Given the description of an element on the screen output the (x, y) to click on. 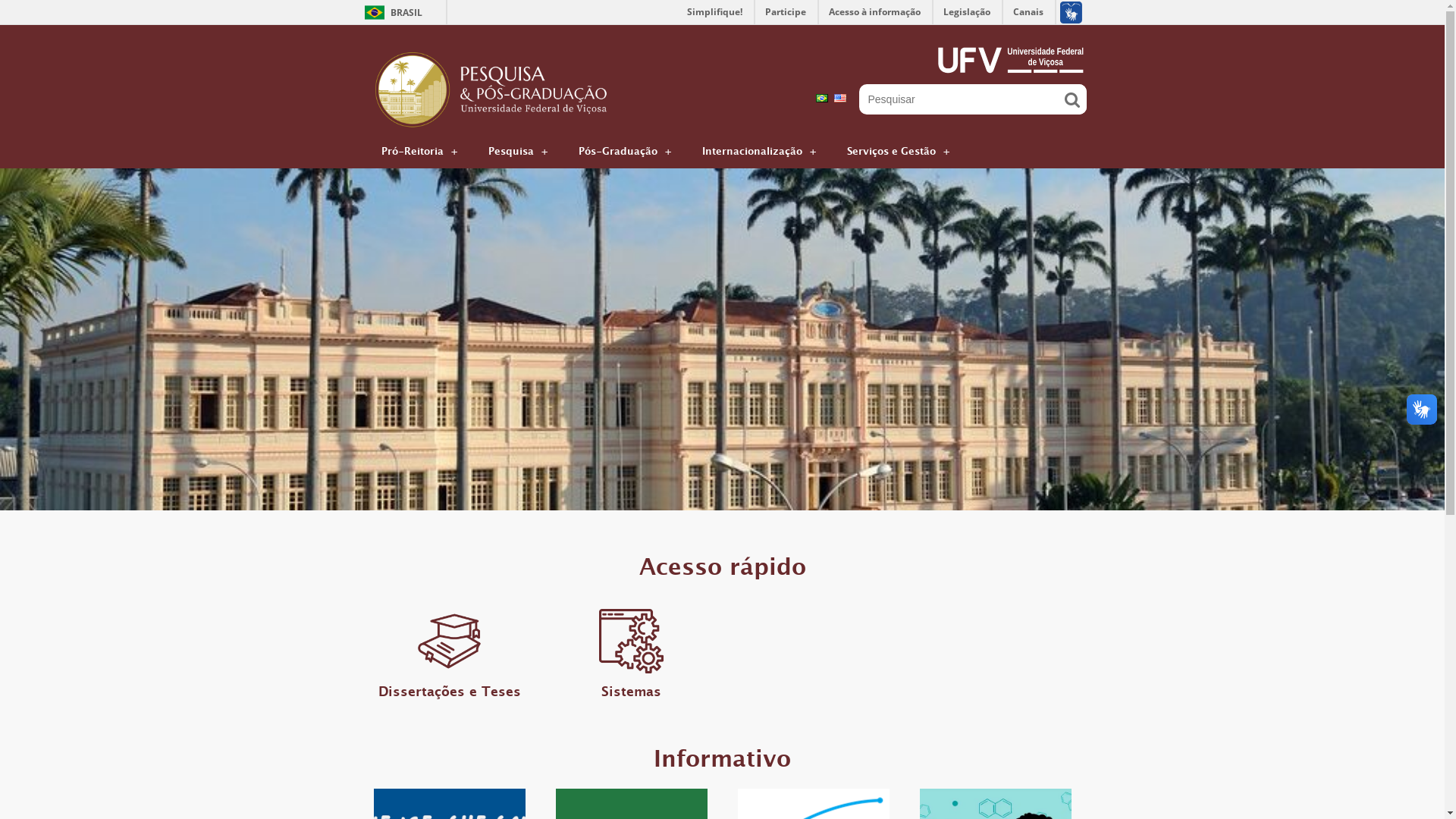
Pesquisa Element type: text (518, 151)
BRASIL Element type: text (389, 12)
